Given the description of an element on the screen output the (x, y) to click on. 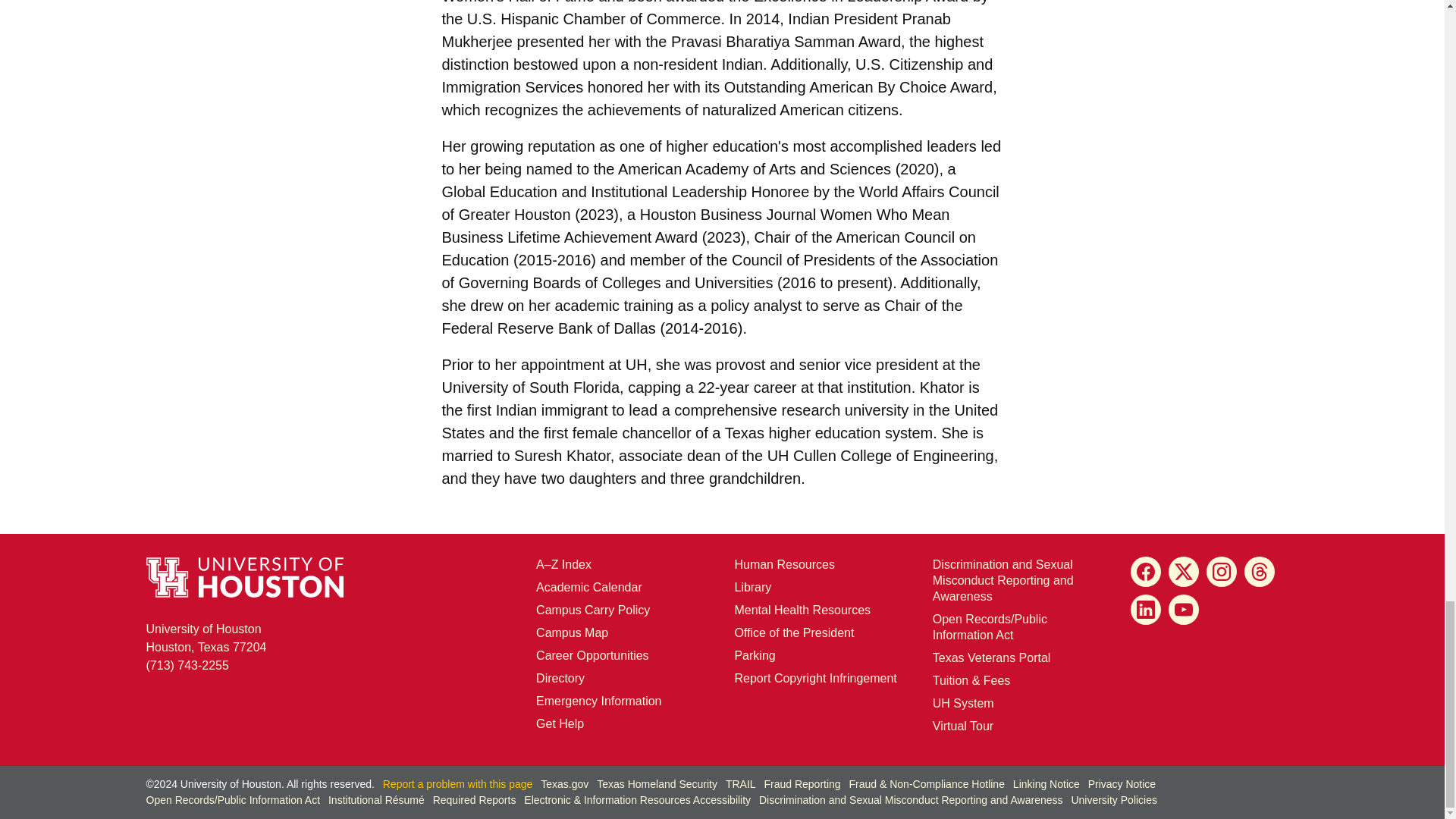
Campus Carry Policy (592, 609)
Career Opportunities (592, 655)
Human Resources (205, 637)
Mental Health Resources (783, 563)
Campus Map (801, 609)
Library (571, 632)
Academic Calendar (752, 586)
Emergency Information (588, 586)
Office of the President (598, 700)
Get Help (793, 632)
Directory (559, 723)
